Given the description of an element on the screen output the (x, y) to click on. 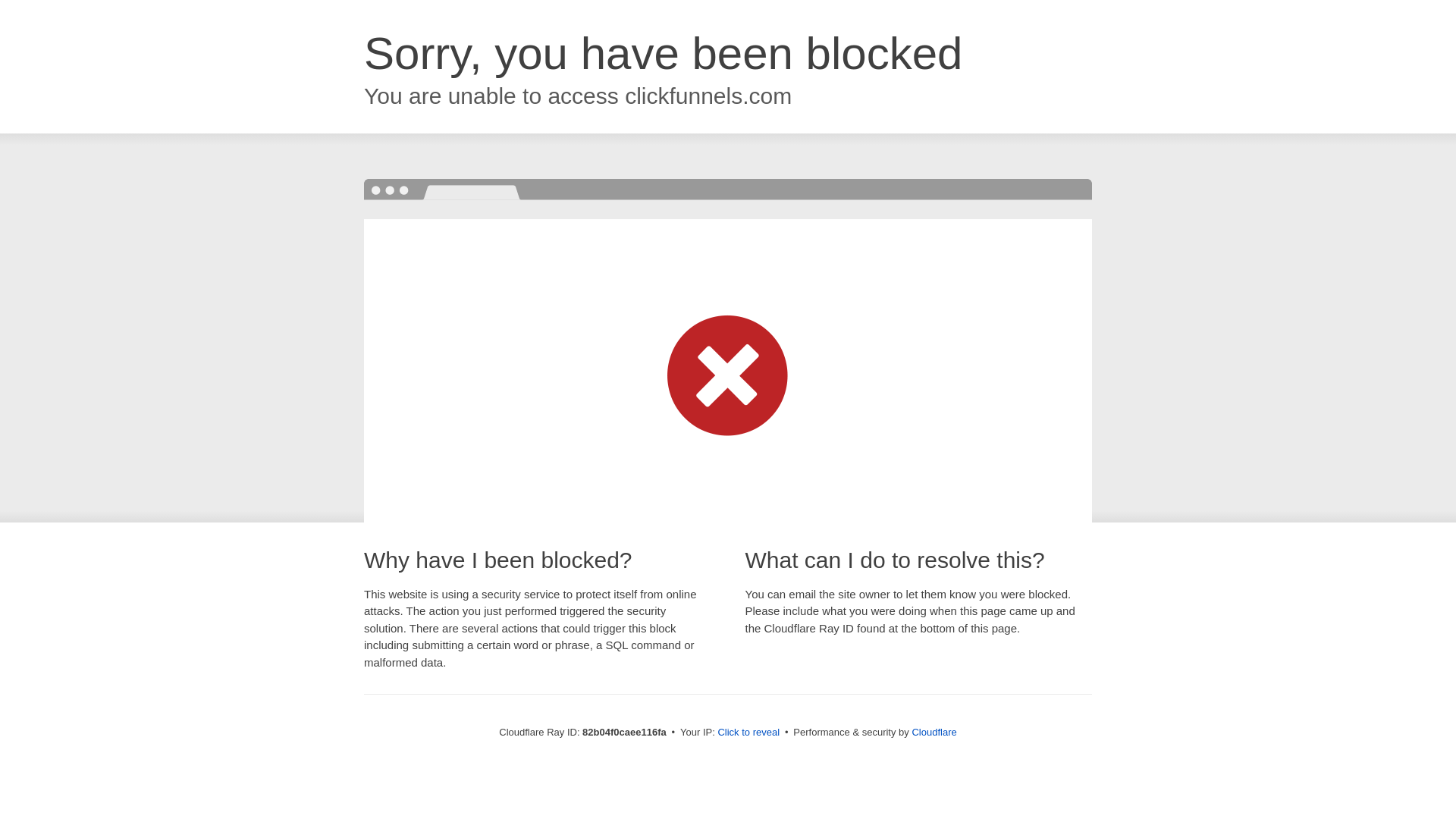
Click to reveal Element type: text (748, 732)
Cloudflare Element type: text (933, 731)
